Given the description of an element on the screen output the (x, y) to click on. 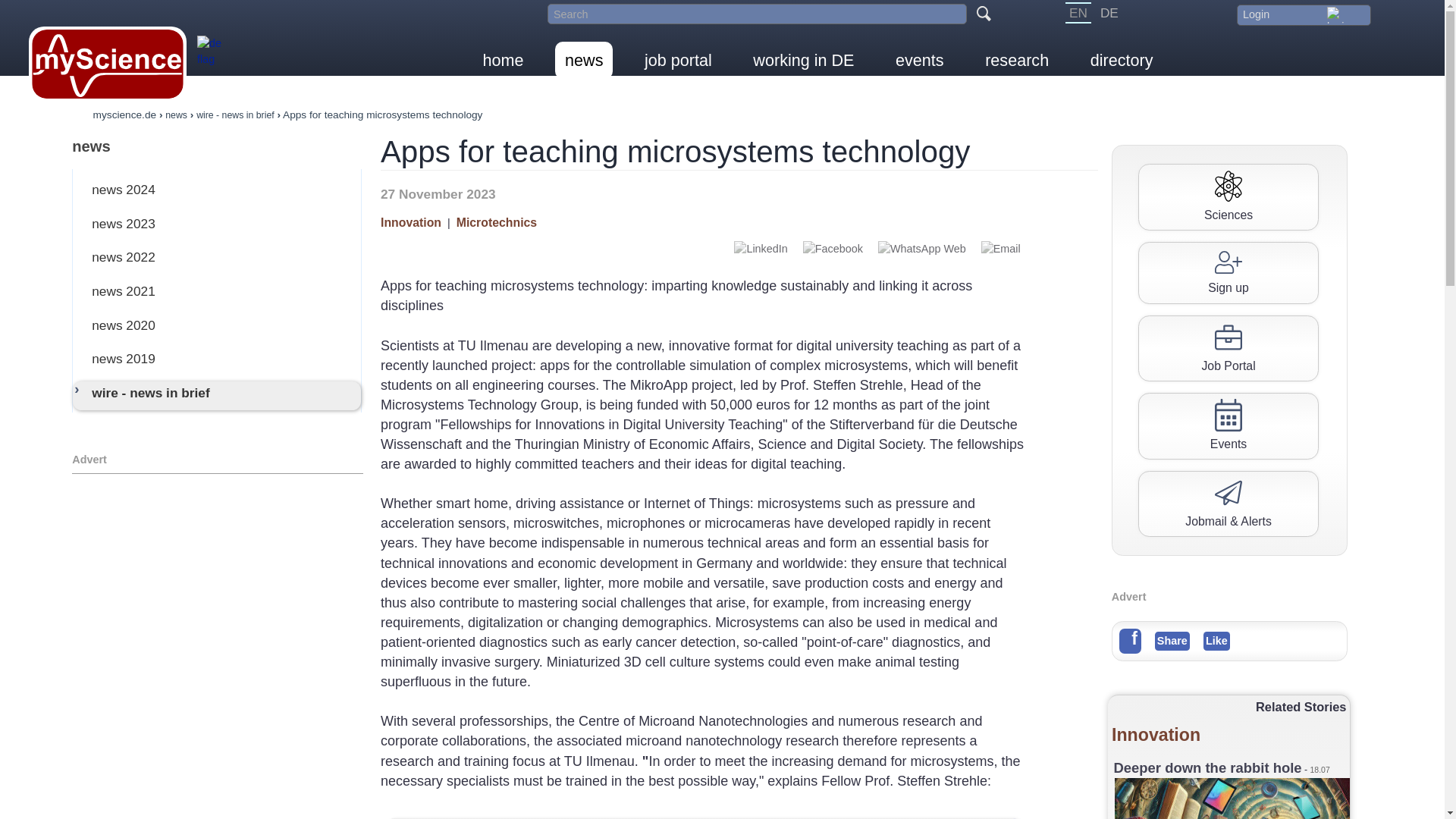
Share on WhatsApp Web (922, 248)
 news  (216, 145)
home (503, 59)
Deutsch (1109, 12)
Login (1303, 14)
Send by Email (1000, 248)
job portal (678, 59)
Search in myscience.de (756, 14)
Share on Facebook (833, 248)
About myscience.de (213, 59)
